Given the description of an element on the screen output the (x, y) to click on. 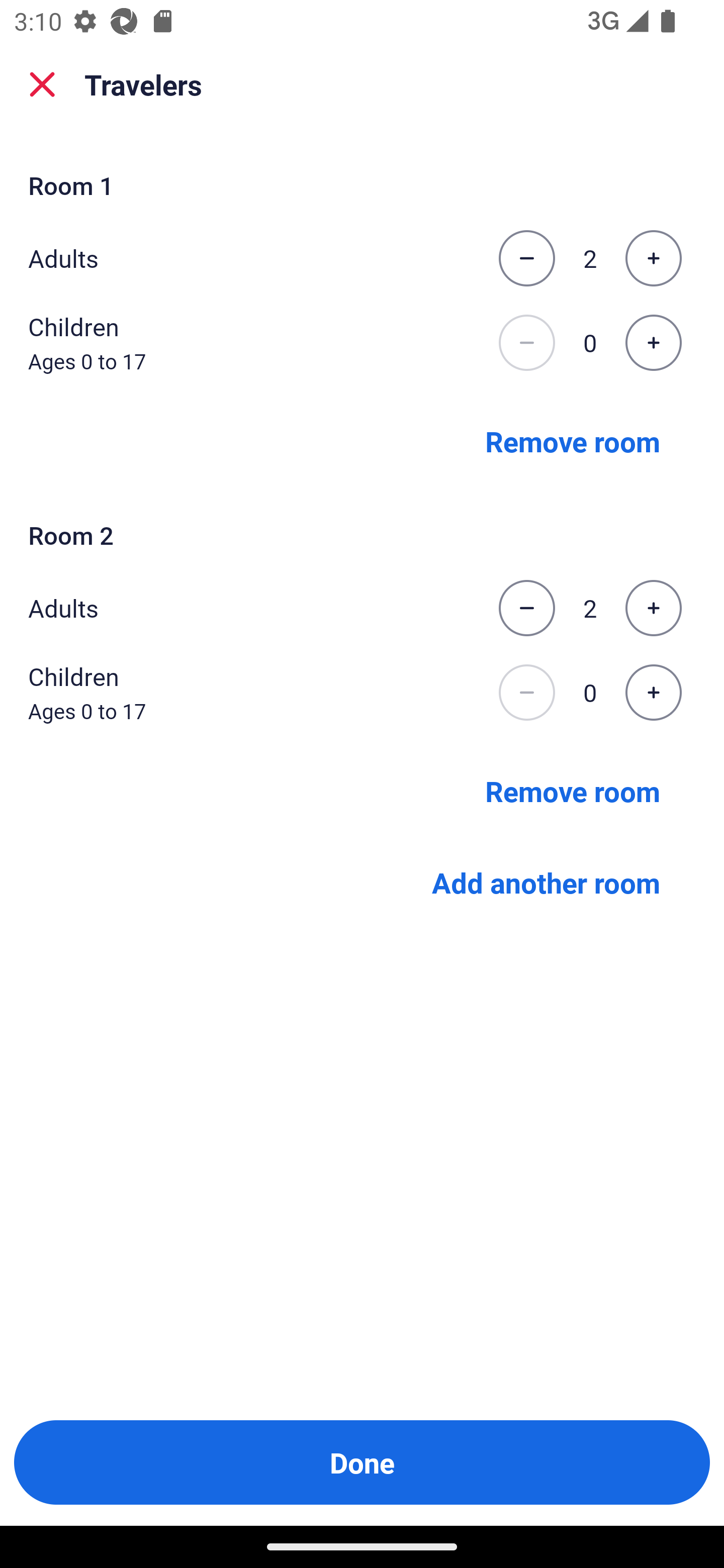
close (42, 84)
Decrease the number of adults (526, 258)
Increase the number of adults (653, 258)
Decrease the number of children (526, 343)
Increase the number of children (653, 343)
Remove room (572, 440)
Decrease the number of adults (526, 608)
Increase the number of adults (653, 608)
Decrease the number of children (526, 692)
Increase the number of children (653, 692)
Remove room (572, 790)
Add another room (545, 882)
Done (361, 1462)
